Given the description of an element on the screen output the (x, y) to click on. 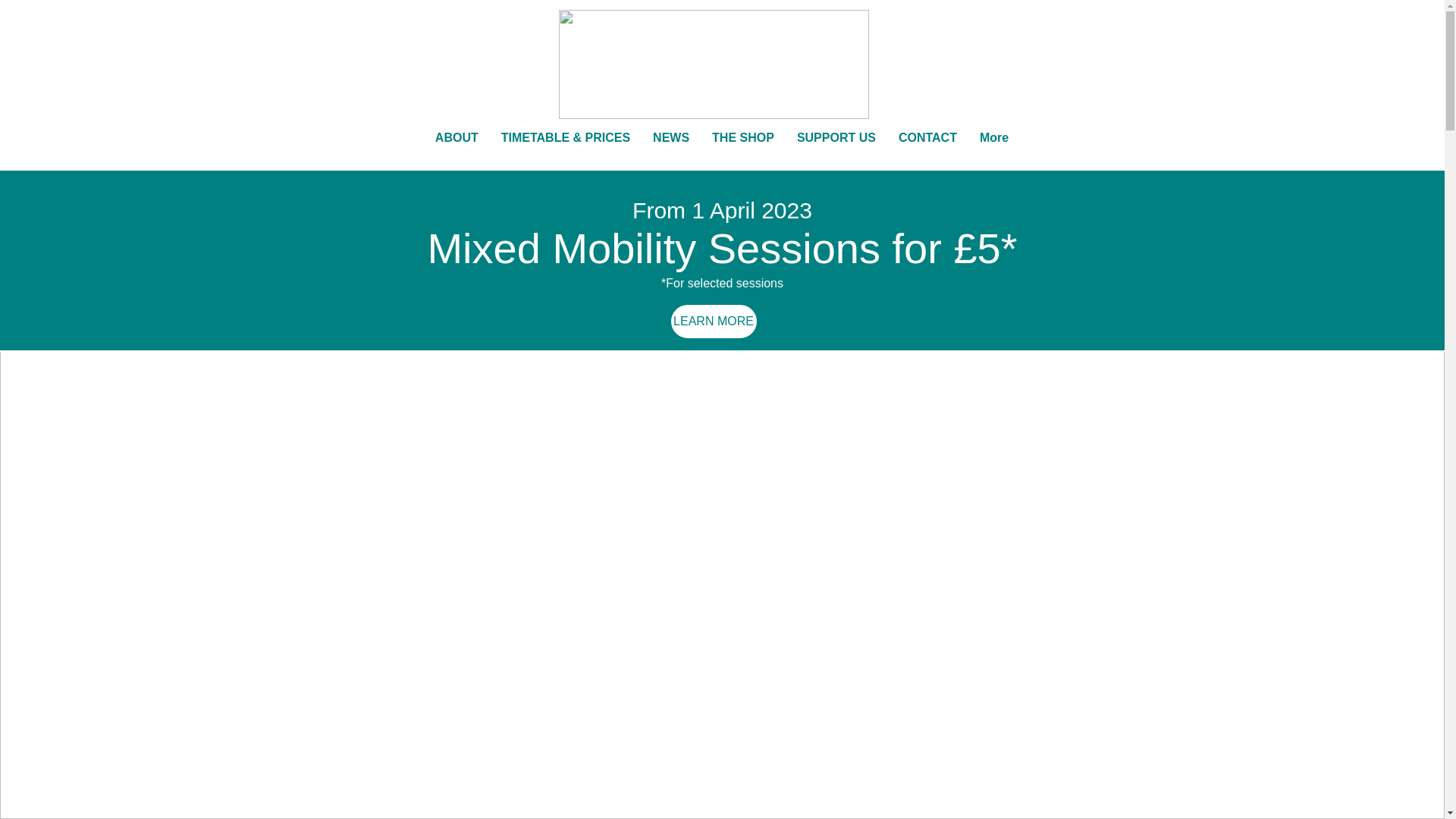
SUPPORT US (836, 149)
LEARN MORE (712, 321)
ABOUT (456, 149)
NEWS (671, 149)
CONTACT (927, 149)
THE SHOP (743, 149)
